Given the description of an element on the screen output the (x, y) to click on. 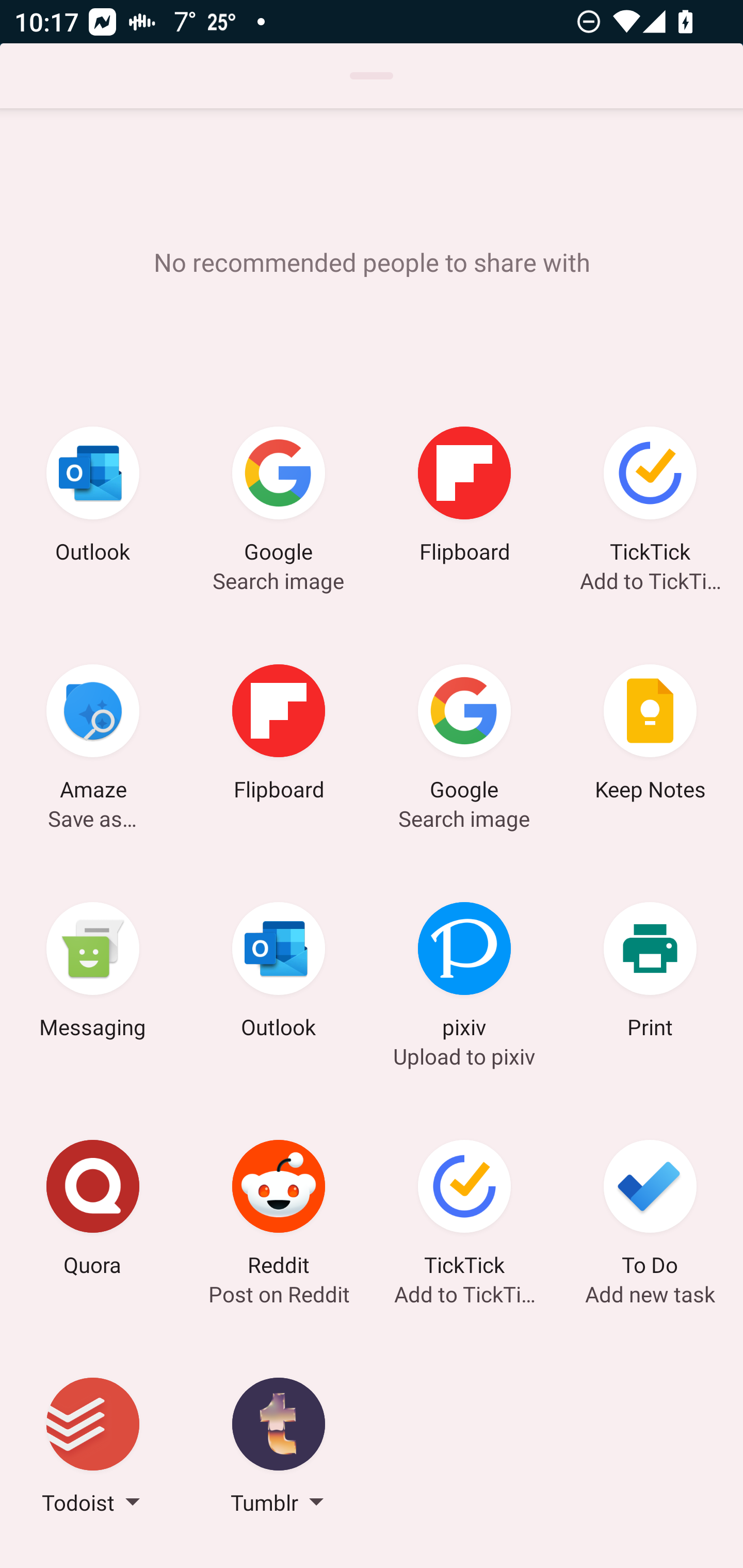
Outlook (92, 497)
Google Search image (278, 497)
Flipboard (464, 497)
TickTick Add to TickTick (650, 497)
Amaze Save as… (92, 735)
Flipboard (278, 735)
Google Search image (464, 735)
Keep Notes (650, 735)
Messaging (92, 973)
Outlook (278, 973)
pixiv Upload to pixiv (464, 973)
Print (650, 973)
Quora (92, 1210)
Reddit Post on Reddit (278, 1210)
TickTick Add to TickTick (464, 1210)
To Do Add new task (650, 1210)
Todoist (92, 1448)
Tumblr (278, 1448)
